Given the description of an element on the screen output the (x, y) to click on. 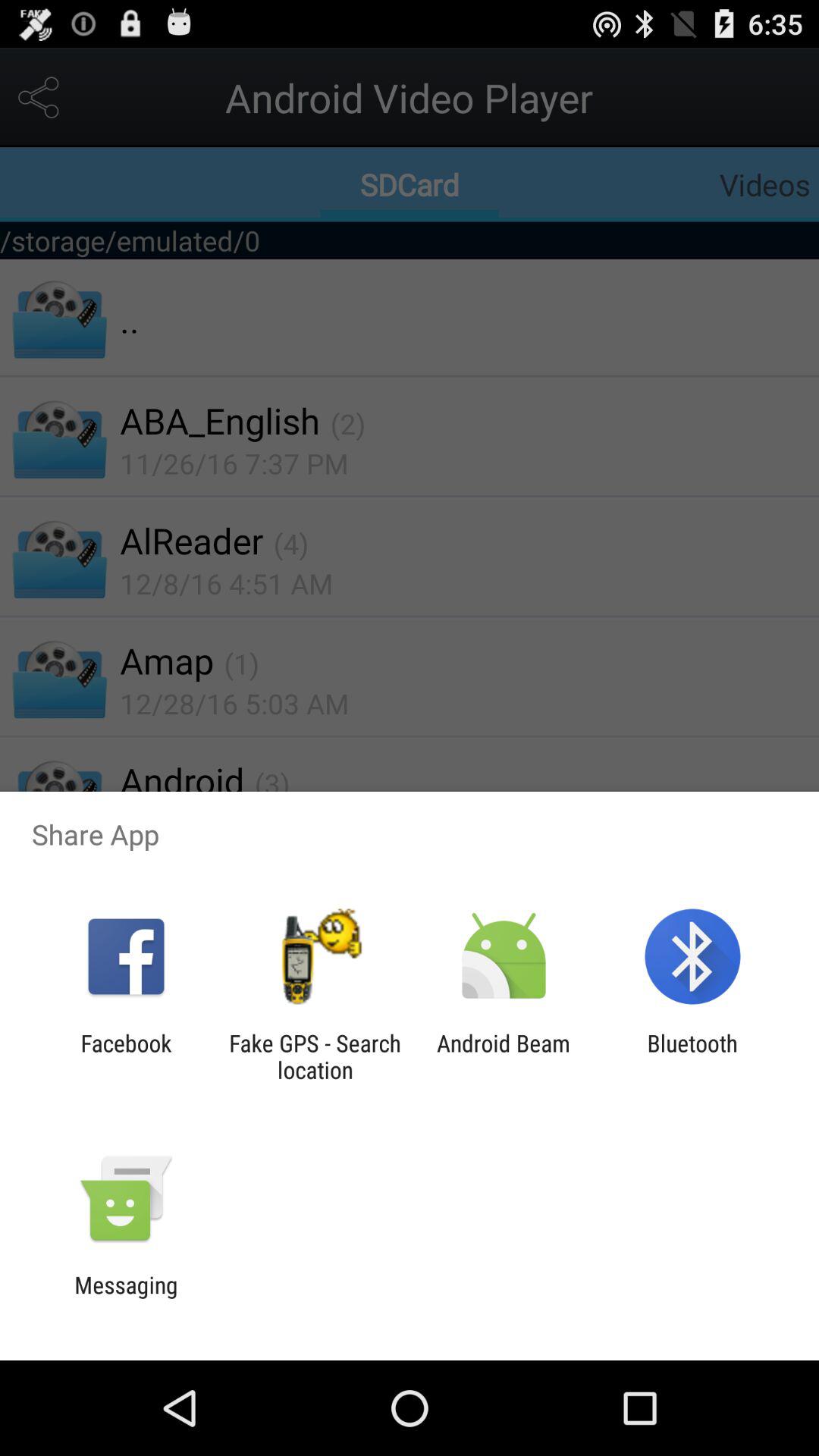
turn off the bluetooth icon (692, 1056)
